Given the description of an element on the screen output the (x, y) to click on. 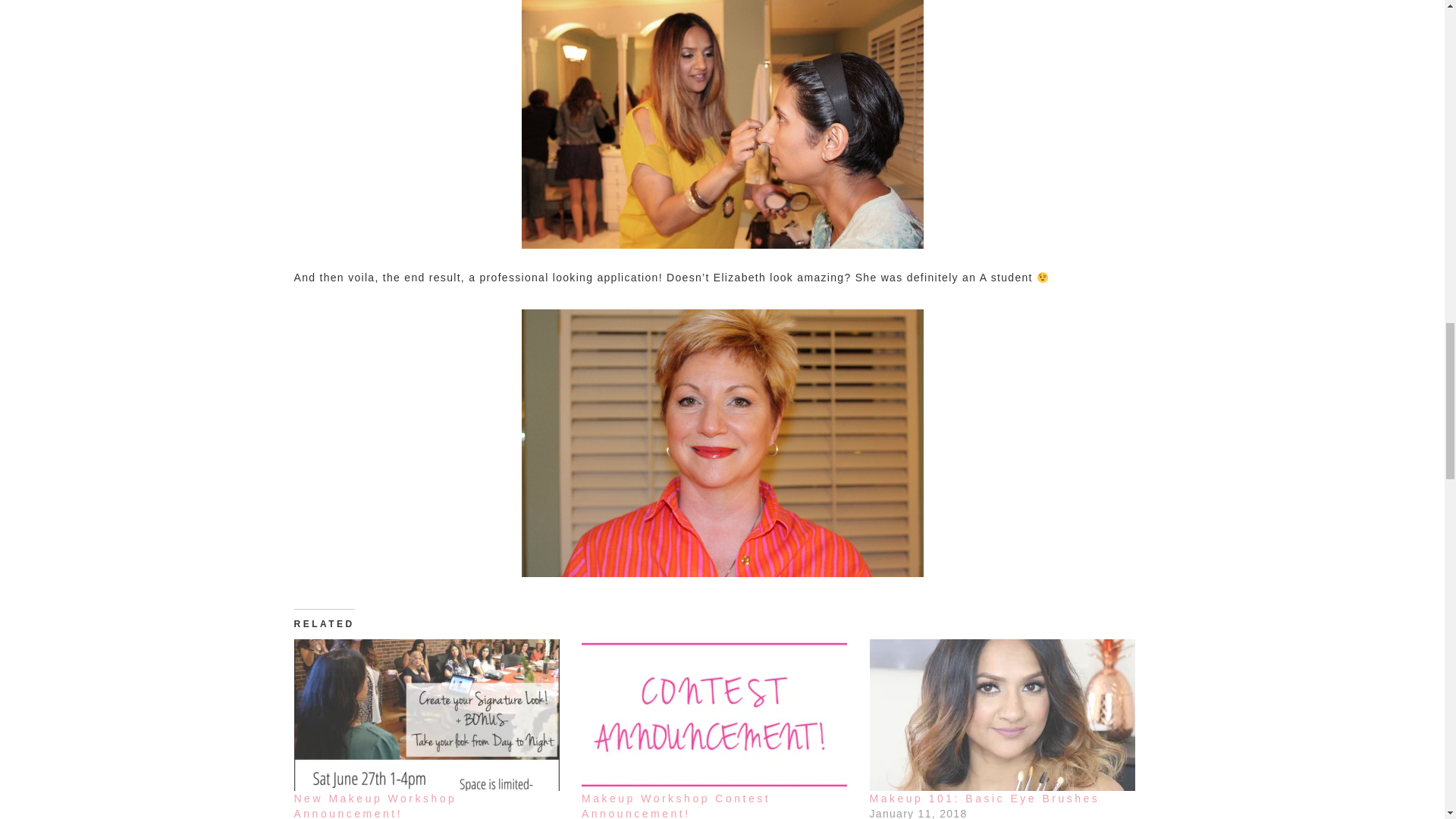
Makeup 101: Basic Eye Brushes (984, 798)
Makeup 101: Basic Eye Brushes (1005, 715)
Makeup 101: Basic Eye Brushes (984, 798)
New Makeup Workshop Announcement! (375, 805)
New Makeup Workshop Announcement! (375, 805)
New Makeup Workshop Announcement! (430, 715)
Makeup Workshop Contest Announcement! (717, 715)
Makeup Workshop Contest Announcement! (675, 805)
Makeup Workshop Contest Announcement! (675, 805)
